Given the description of an element on the screen output the (x, y) to click on. 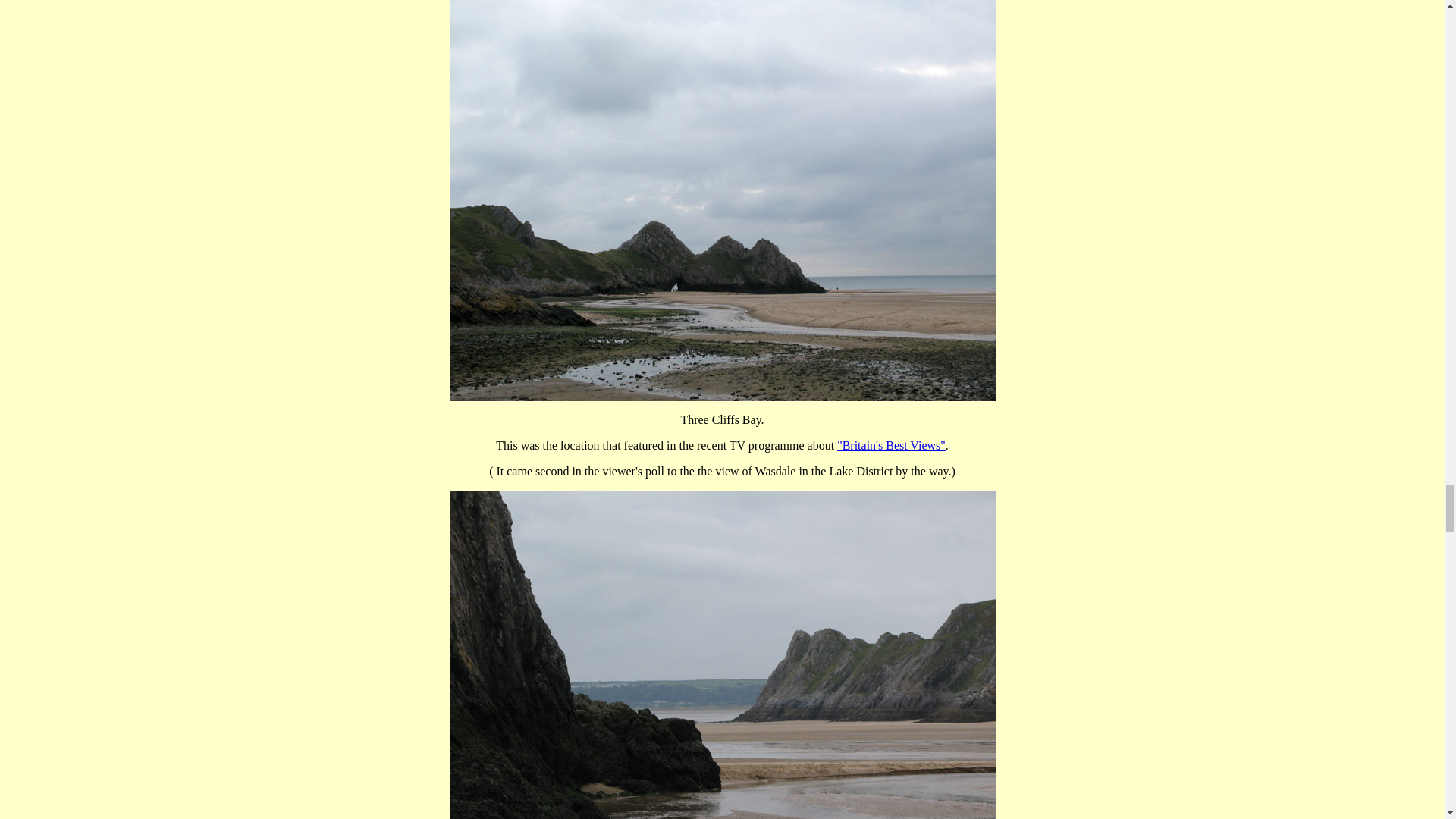
"Britain's Best Views" (890, 445)
